Given the description of an element on the screen output the (x, y) to click on. 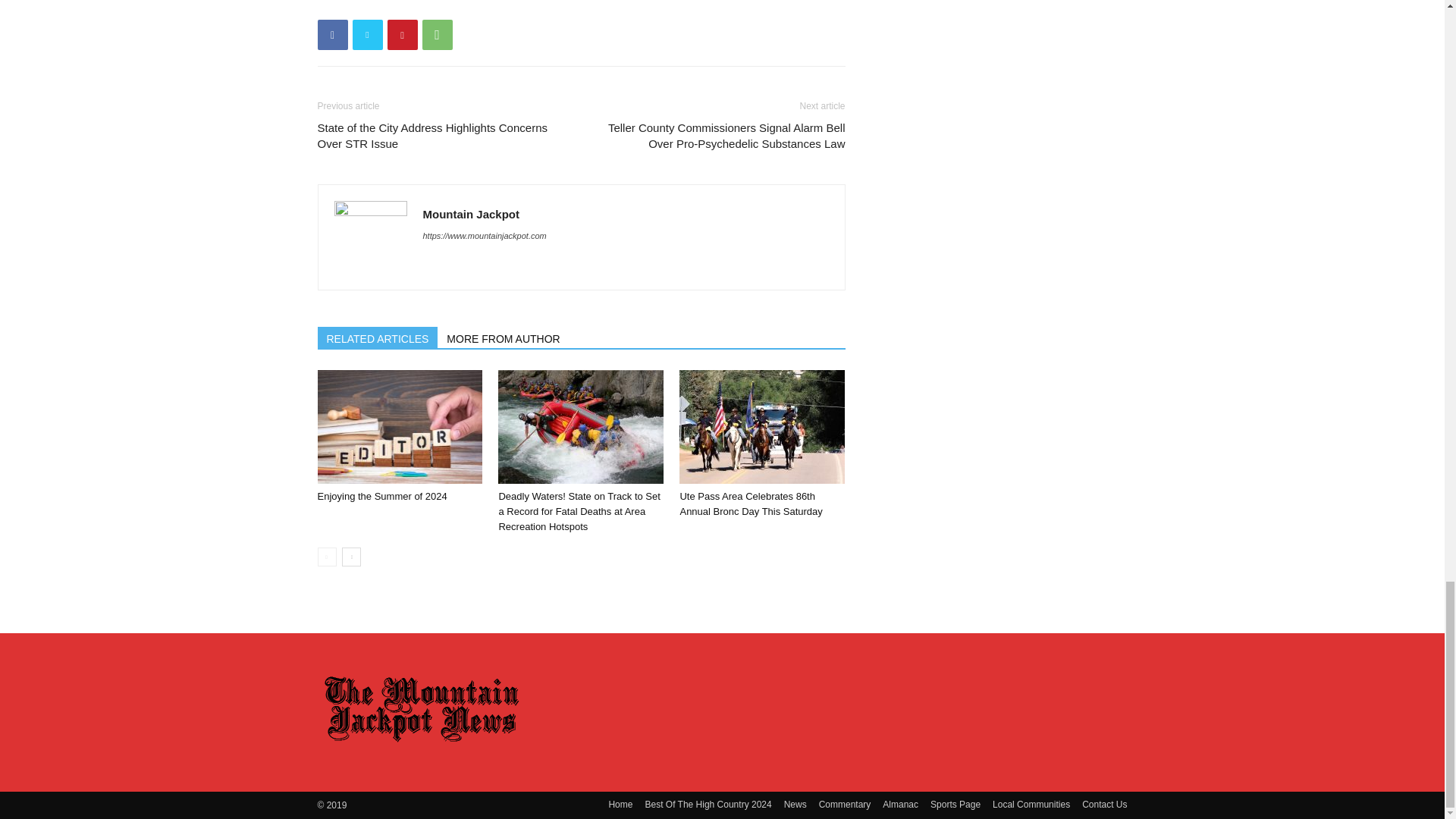
WhatsApp (436, 34)
Facebook (332, 34)
Enjoying the Summer of 2024 (399, 427)
Pinterest (401, 34)
Twitter (366, 34)
